Given the description of an element on the screen output the (x, y) to click on. 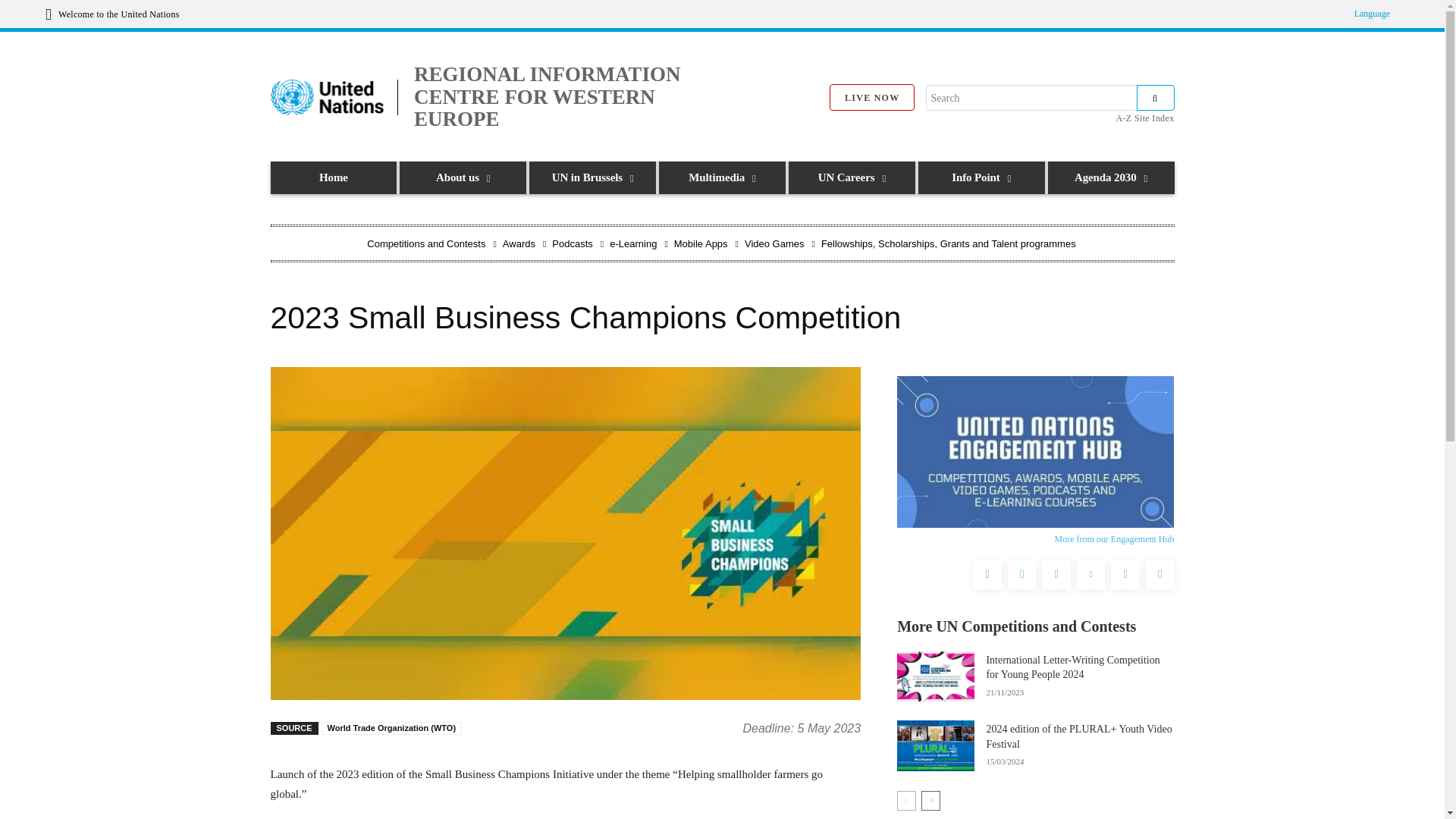
Live now (871, 97)
Welcome to the United Nations (112, 13)
